Given the description of an element on the screen output the (x, y) to click on. 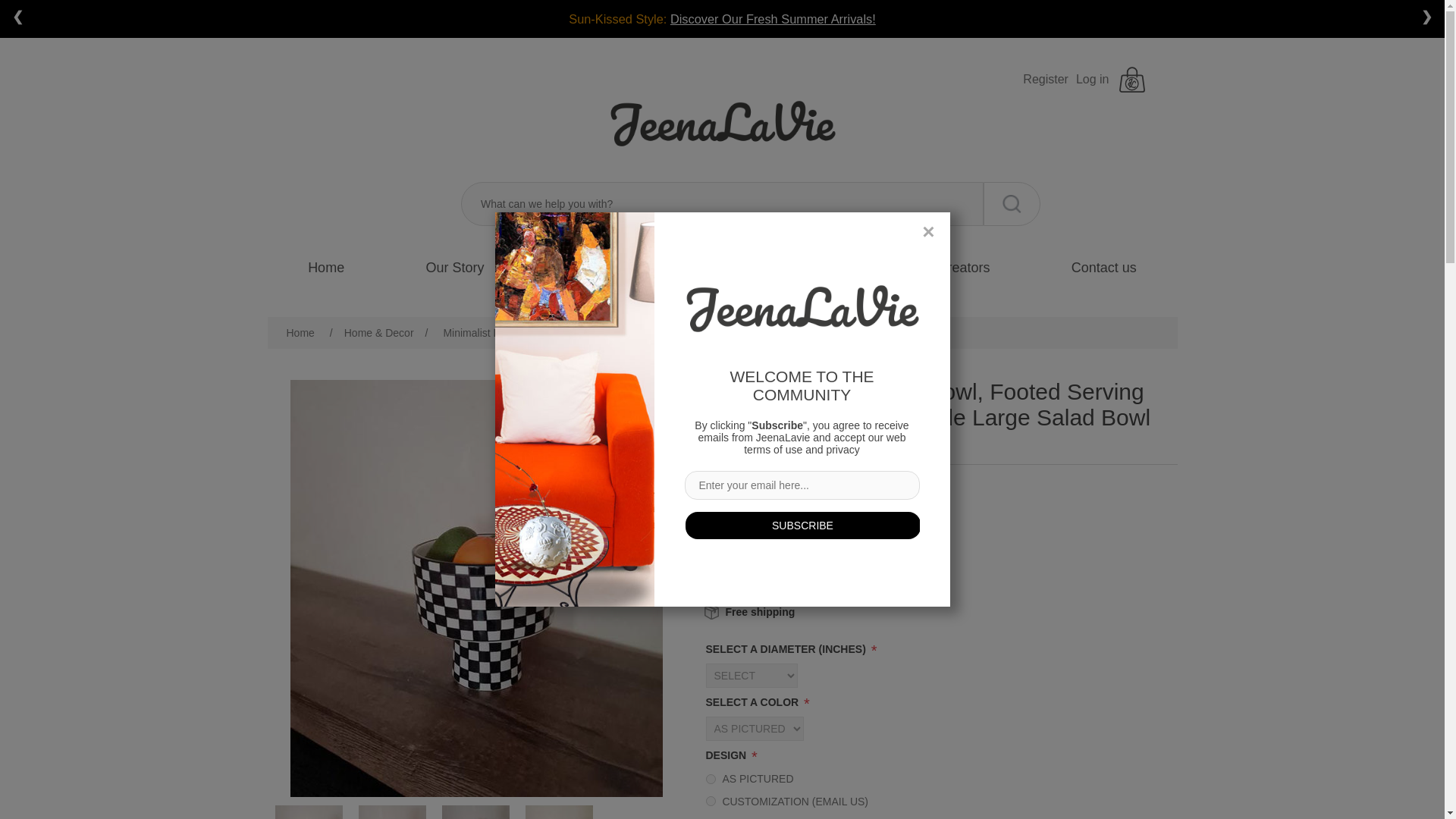
Discover Our Fresh Summer Arrivals! (772, 18)
SUBSCRIBE (802, 524)
9226 (709, 778)
Register (1045, 79)
Log in (1092, 79)
Our Story (454, 267)
Shop (581, 267)
Home (325, 267)
